Given the description of an element on the screen output the (x, y) to click on. 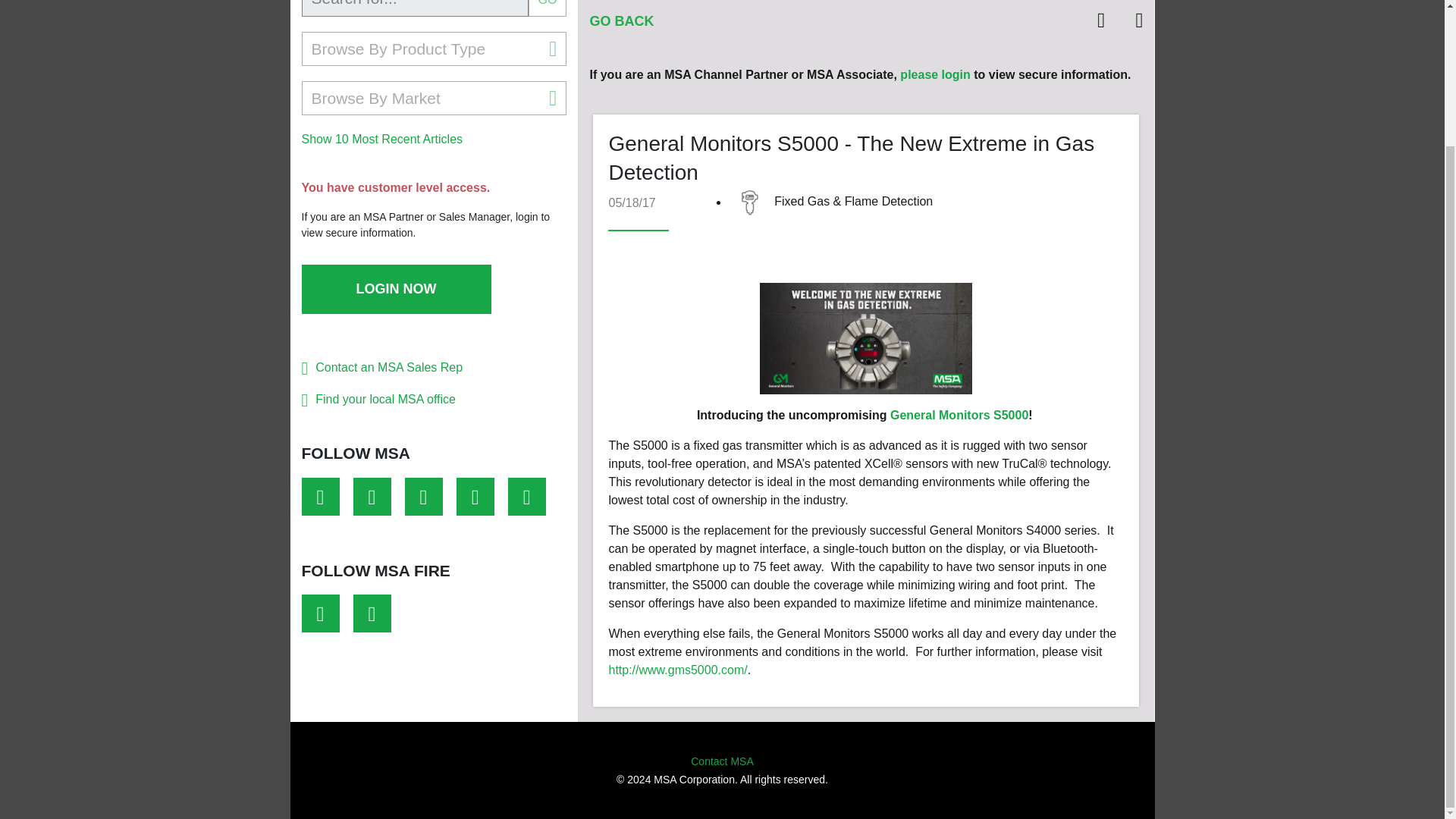
Go Back (621, 21)
Browse By Product Type (434, 48)
GM S5000 (866, 337)
Show 10 Most Recent Articles (382, 138)
Contact an MSA Sales Rep (389, 367)
GO (547, 8)
Browse By Market (434, 98)
Show 10 Most Recent Articles (382, 138)
Find your local MSA office (385, 399)
